Given the description of an element on the screen output the (x, y) to click on. 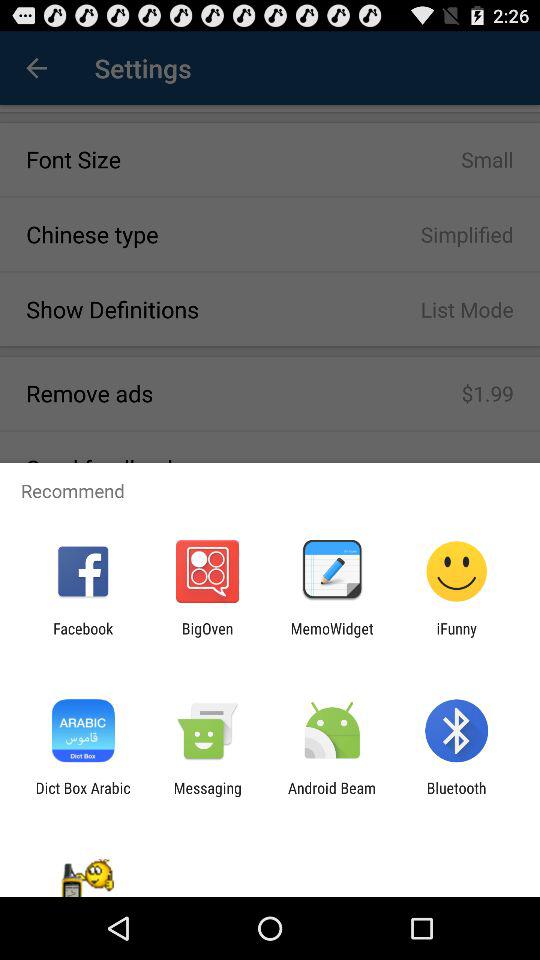
choose app to the left of the bluetooth item (332, 796)
